Given the description of an element on the screen output the (x, y) to click on. 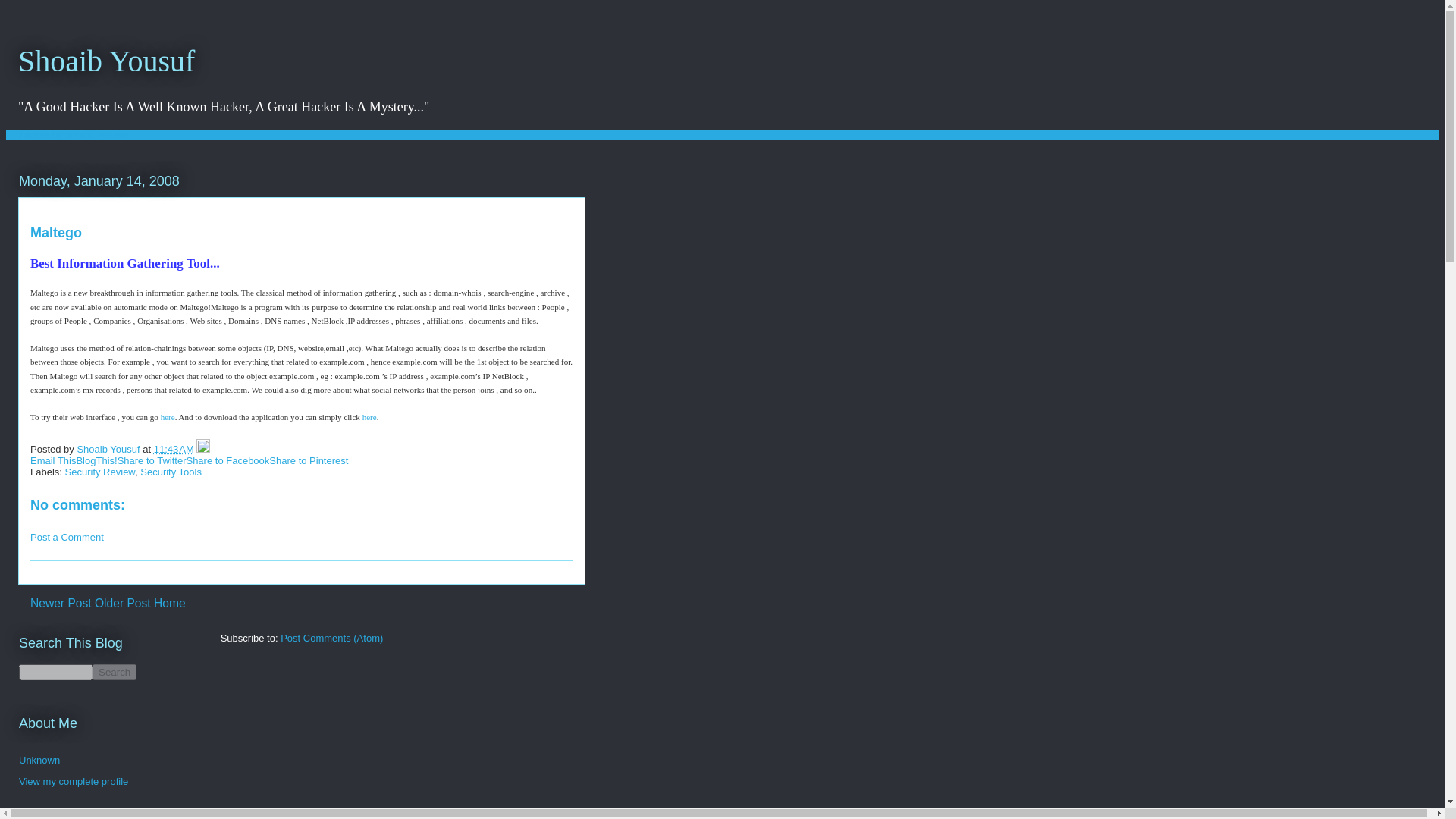
Unknown (38, 759)
author profile (109, 449)
Email This (52, 460)
BlogThis! (95, 460)
Share to Pinterest (308, 460)
Share to Twitter (151, 460)
Shoaib Yousuf (106, 60)
Search (114, 672)
Older Post (122, 603)
Share to Facebook (227, 460)
Security Review (100, 471)
View my complete profile (73, 781)
Older Post (122, 603)
Post a Comment (66, 536)
Search (114, 672)
